Given the description of an element on the screen output the (x, y) to click on. 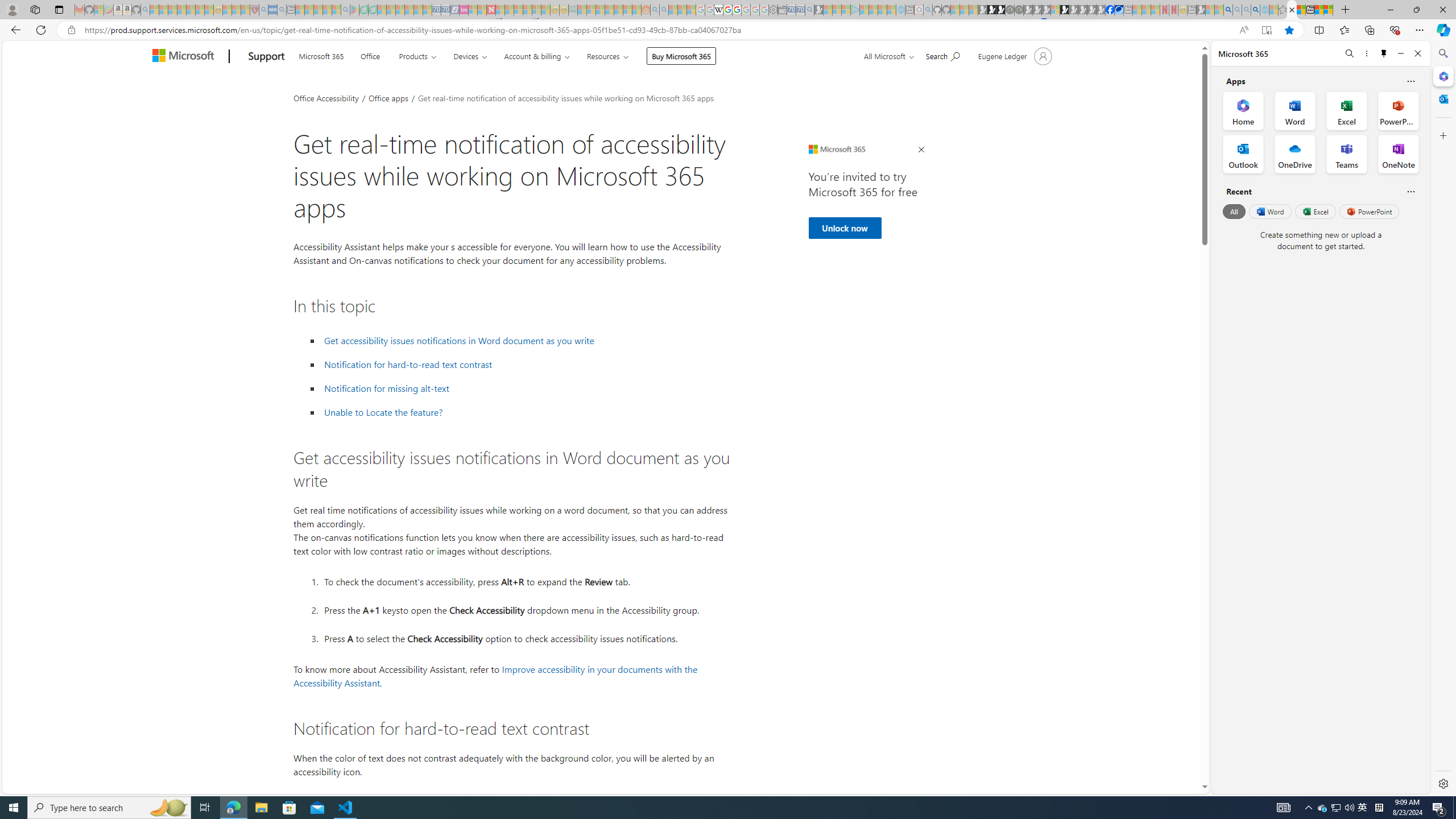
Word Office App (1295, 110)
OneNote Office App (1398, 154)
Outlook Office App (1243, 154)
